Given the description of an element on the screen output the (x, y) to click on. 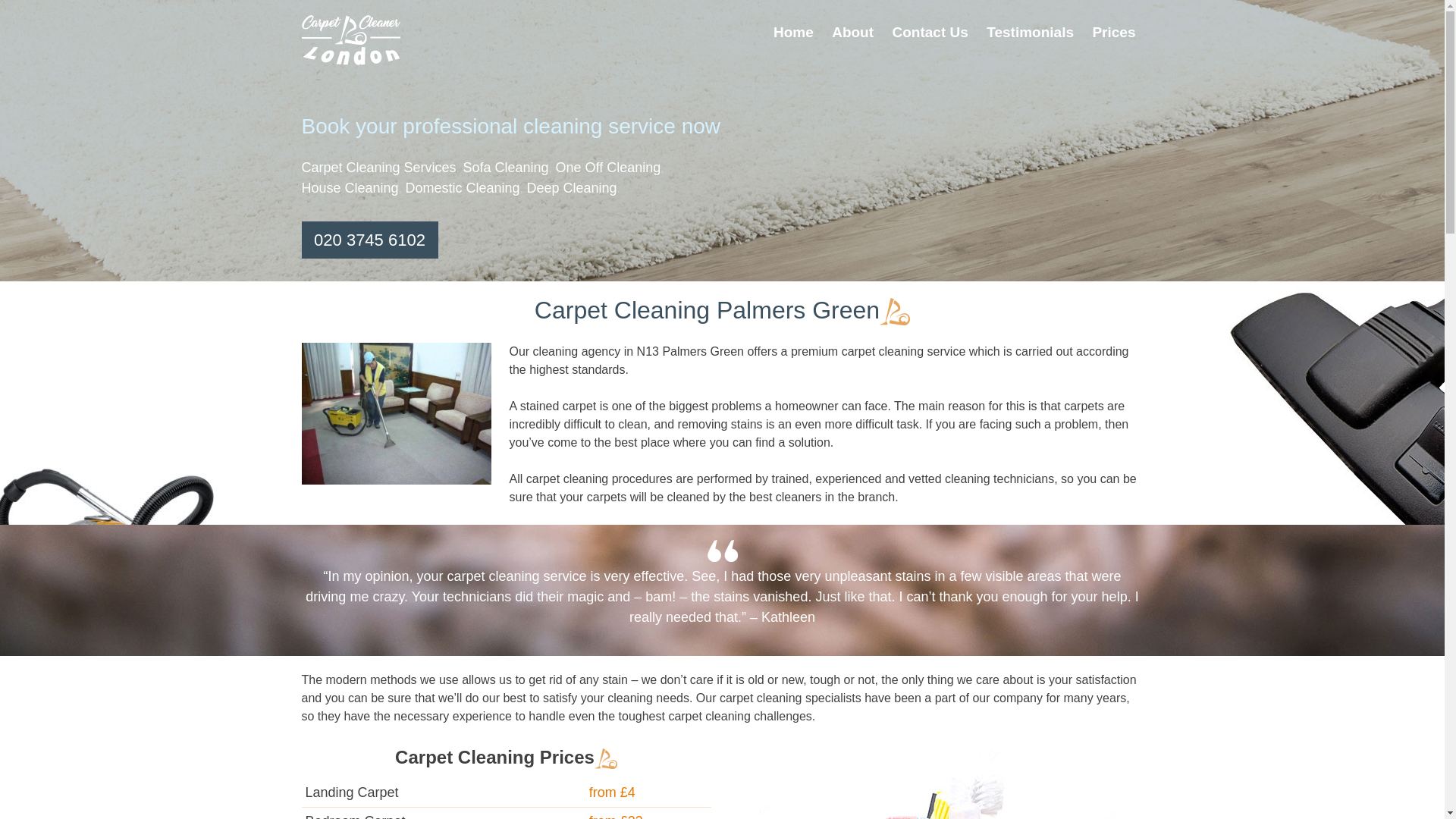
020 3745 6102 (369, 239)
Deep Cleaning (570, 187)
Contact Us (929, 32)
Home (793, 32)
One Off Cleaning (607, 167)
About (852, 32)
House Cleaning (349, 187)
Domestic Cleaning (461, 187)
carpet cleaner (396, 414)
Testimonials (1029, 32)
Book your professional cleaning service now (721, 126)
Carpet Cleaning Services (379, 167)
Sofa Cleaning (505, 167)
Prices (1113, 32)
